Given the description of an element on the screen output the (x, y) to click on. 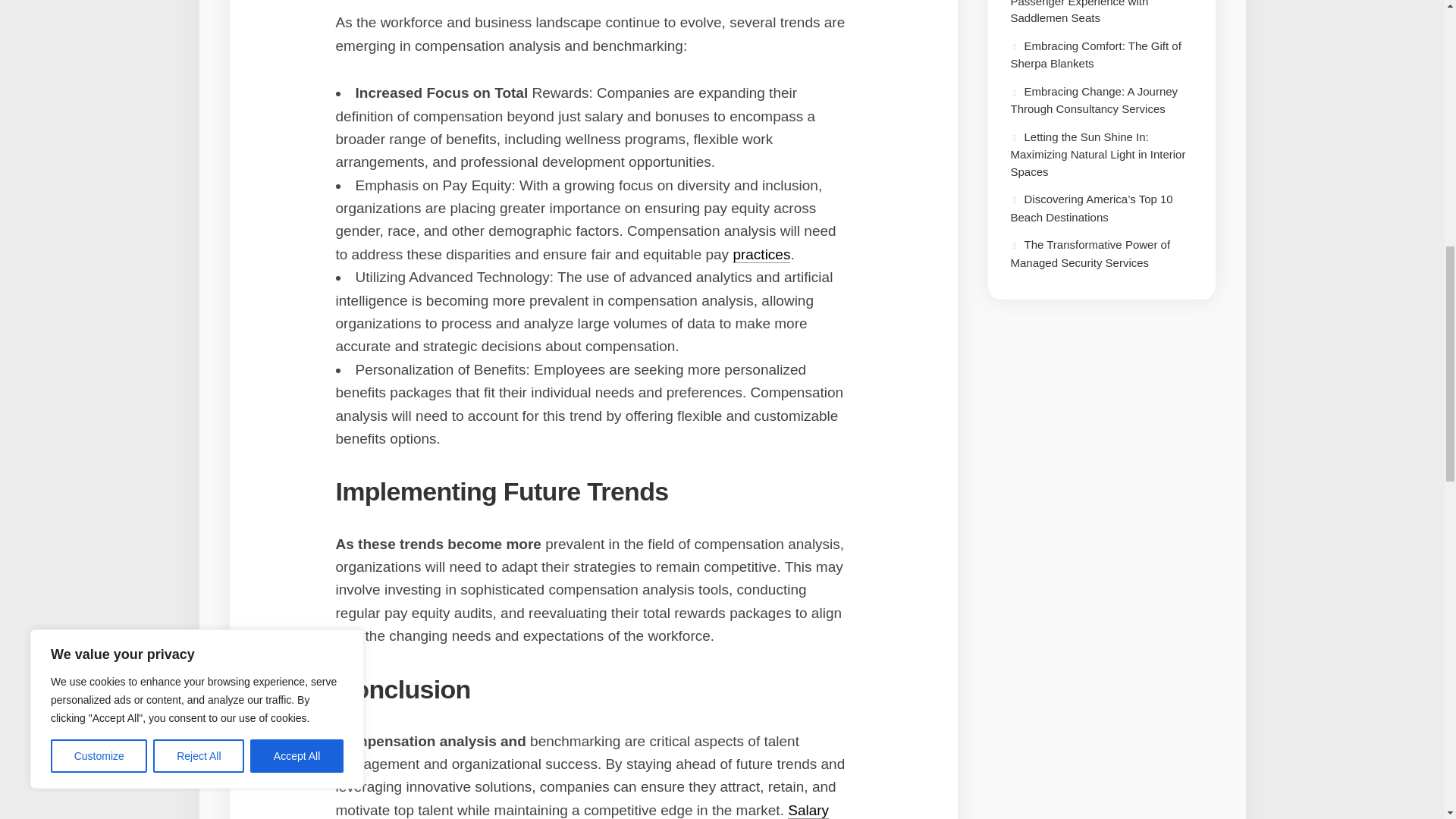
Salary benchmarking tool (581, 810)
practices (761, 254)
